Given the description of an element on the screen output the (x, y) to click on. 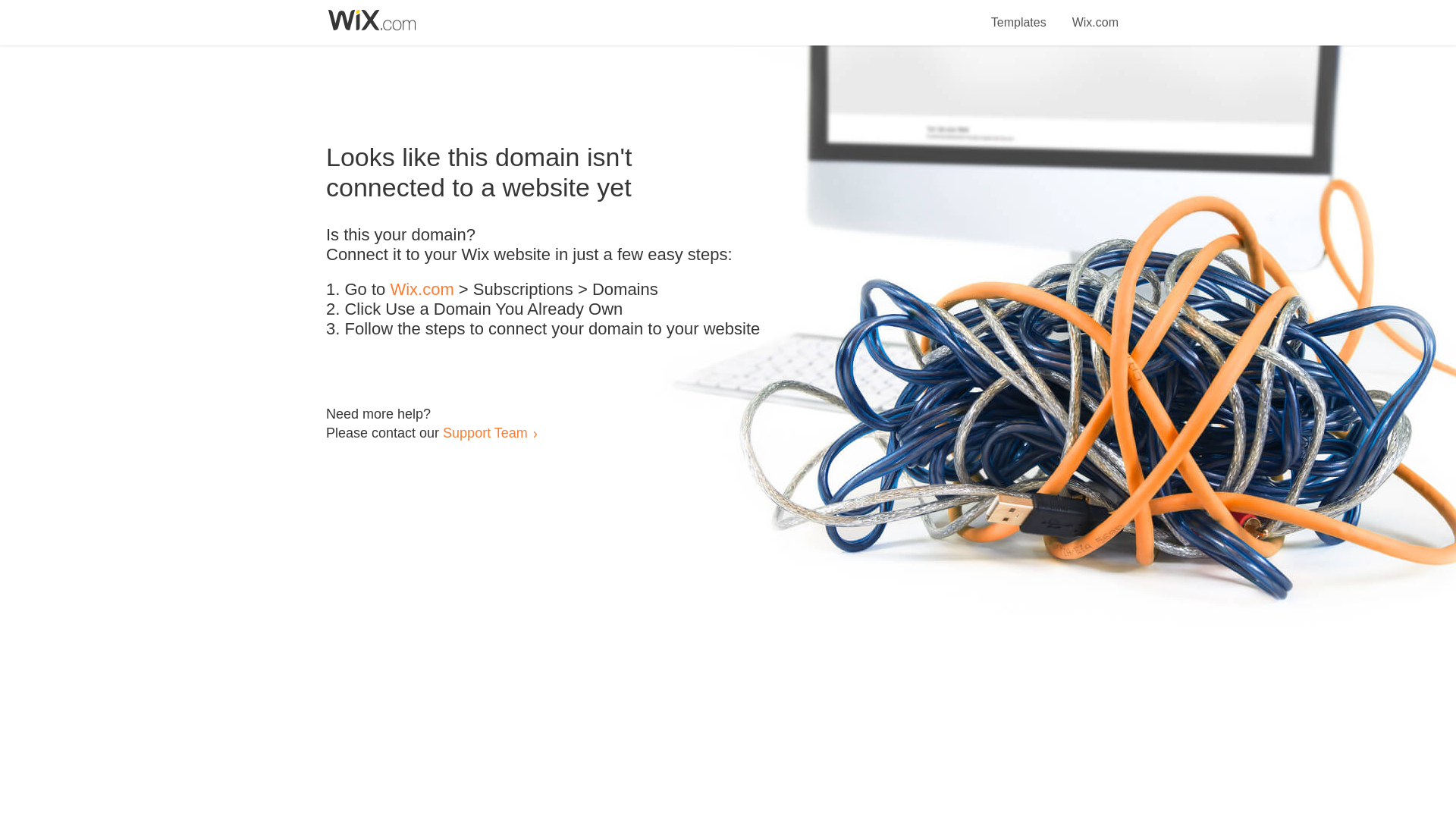
Wix.com (1095, 14)
Support Team (484, 432)
Wix.com (421, 289)
Templates (1018, 14)
